Given the description of an element on the screen output the (x, y) to click on. 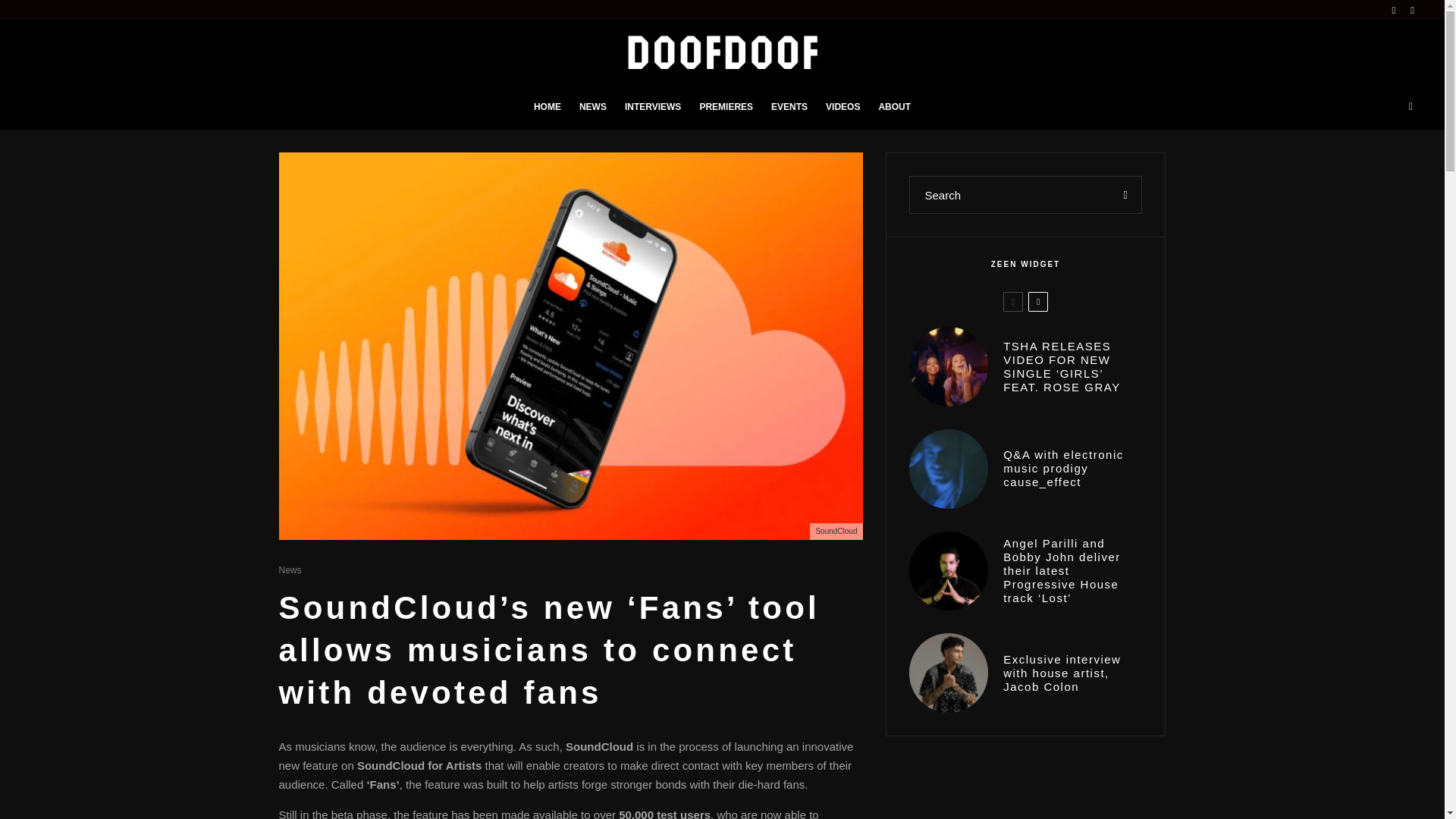
VIDEOS (842, 108)
INTERVIEWS (652, 108)
PREMIERES (725, 108)
EVENTS (788, 108)
NEWS (592, 108)
HOME (547, 108)
